Given the description of an element on the screen output the (x, y) to click on. 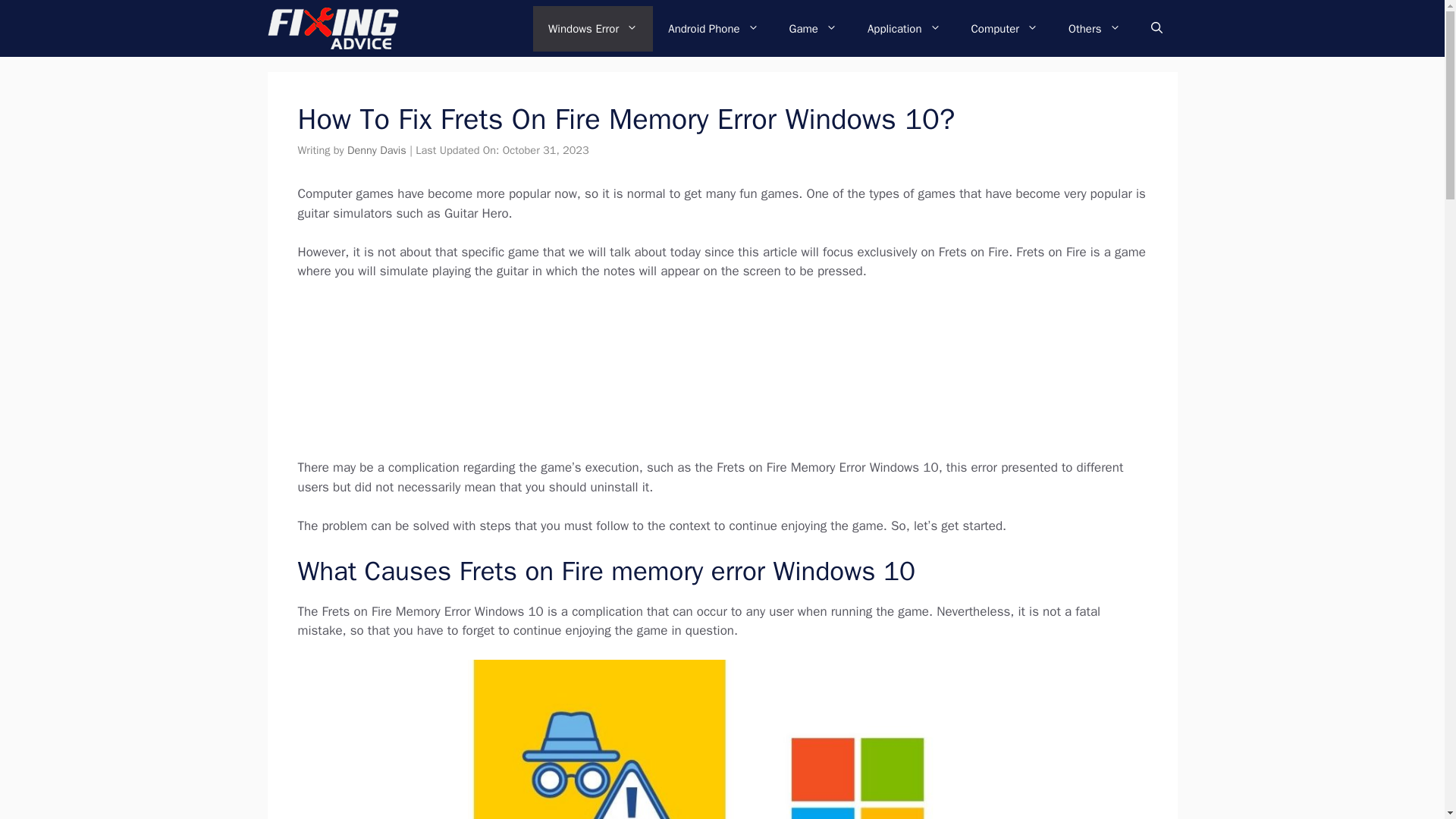
Fixing Advice (331, 28)
View all posts by Denny Davis (376, 150)
Windows Error (592, 28)
Application (903, 28)
How to Fix Frets on Fire Memory Error Windows 10? 1 (722, 739)
Android Phone (712, 28)
Game (812, 28)
Advertisement (736, 376)
